Given the description of an element on the screen output the (x, y) to click on. 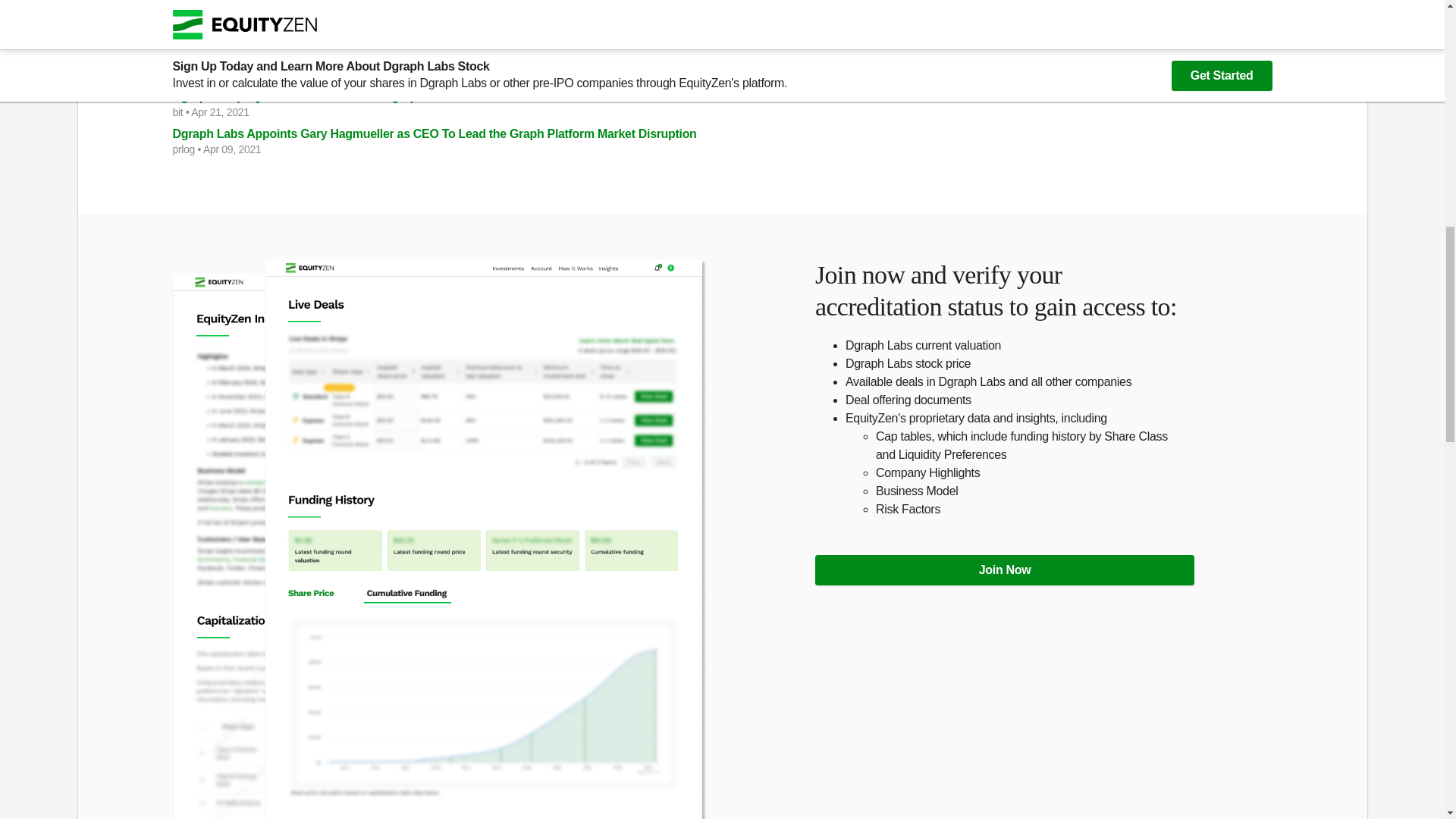
Join Now (1004, 570)
Dgraph GraphQL database users detail graph use cases (440, 96)
